Given the description of an element on the screen output the (x, y) to click on. 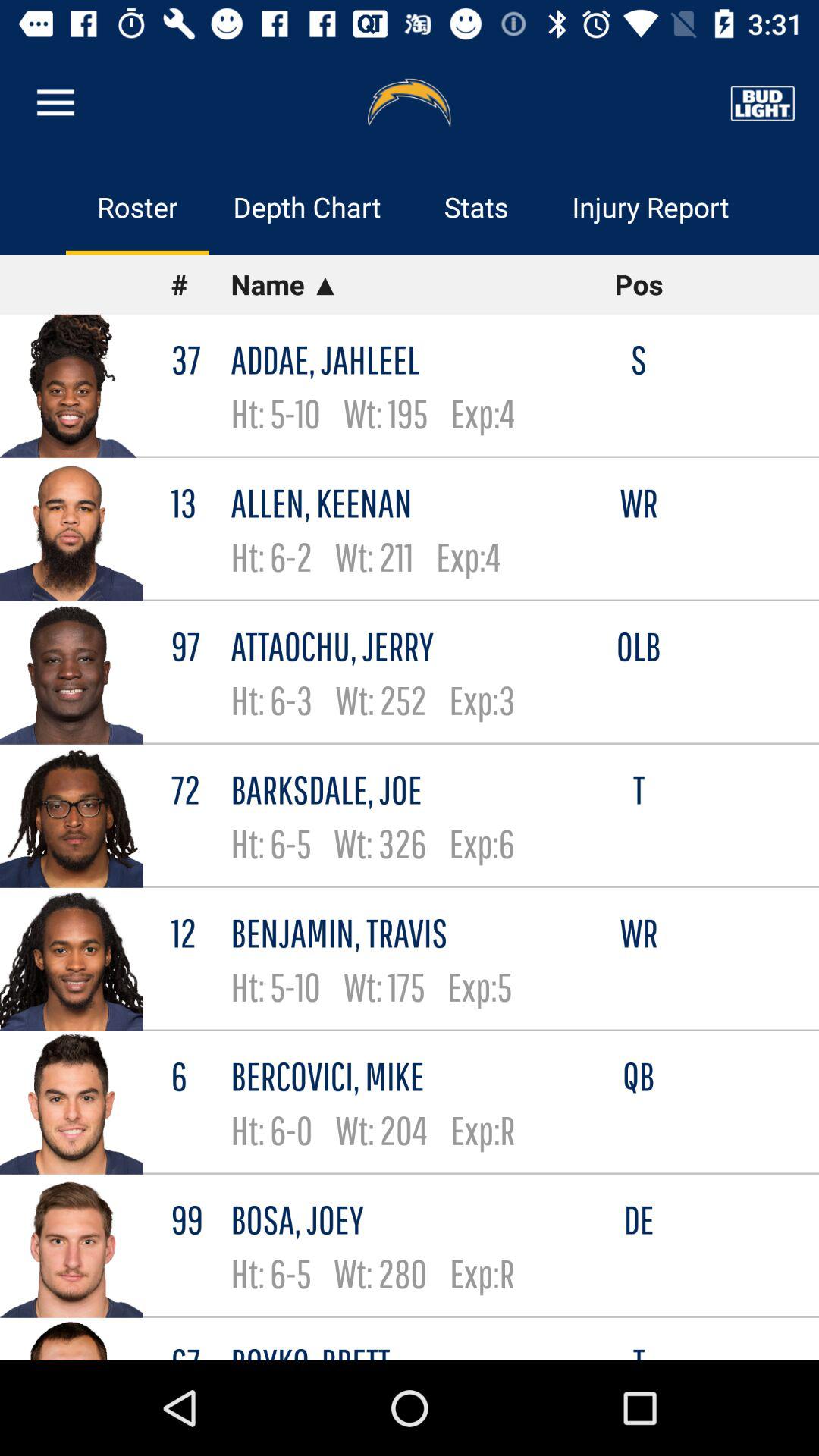
tap the icon below the roster (200, 284)
